Given the description of an element on the screen output the (x, y) to click on. 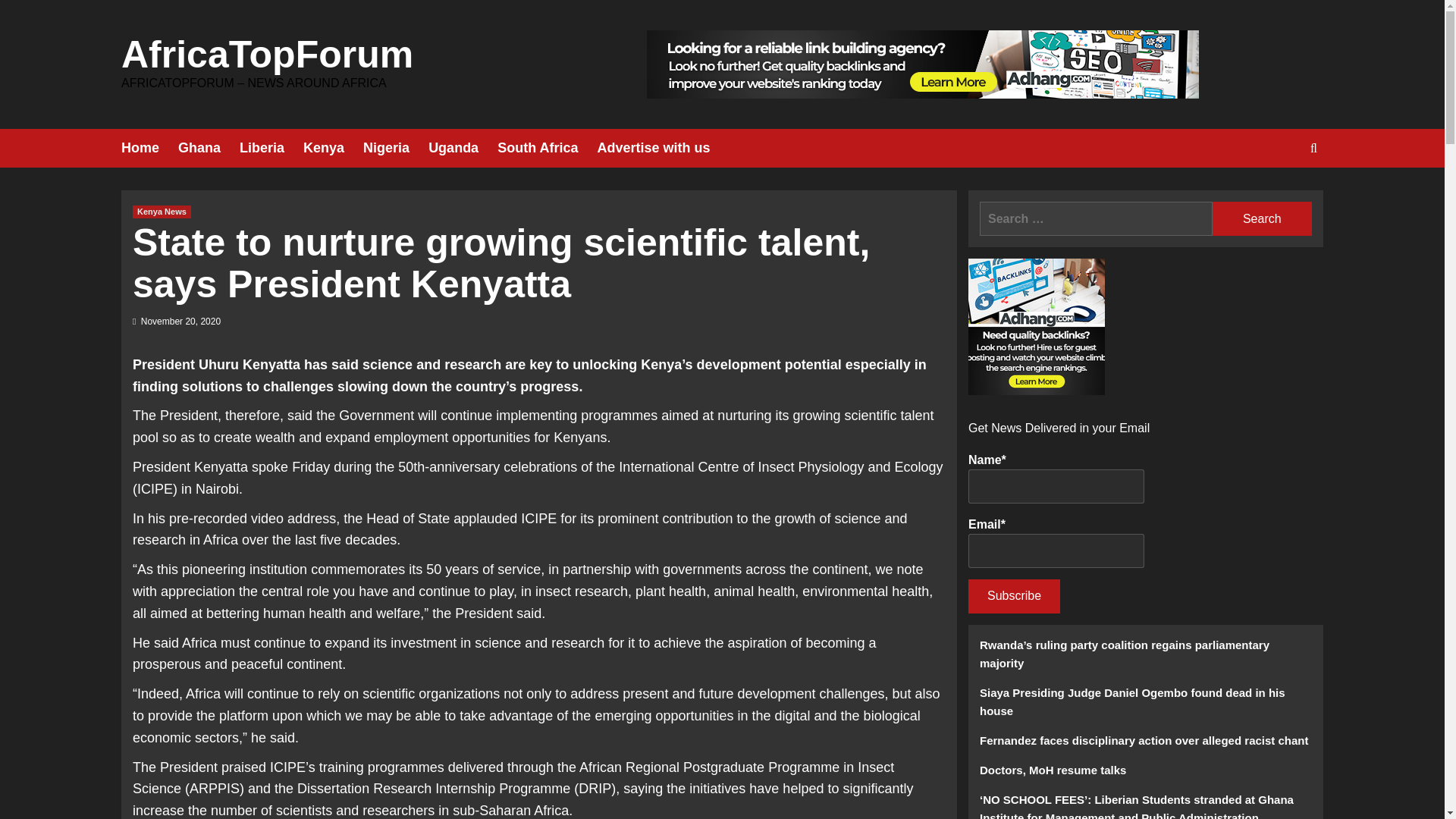
Uganda (462, 147)
Subscribe (1013, 596)
AfricaTopForum (266, 54)
Kenya News (161, 211)
November 20, 2020 (181, 321)
Search (1261, 218)
Subscribe (1013, 596)
Kenya (332, 147)
Search (1278, 194)
Liberia (271, 147)
Search (1261, 218)
Siaya Presiding Judge Daniel Ogembo found dead in his house (1145, 707)
Advertise with us (662, 147)
Ghana (208, 147)
Nigeria (395, 147)
